Given the description of an element on the screen output the (x, y) to click on. 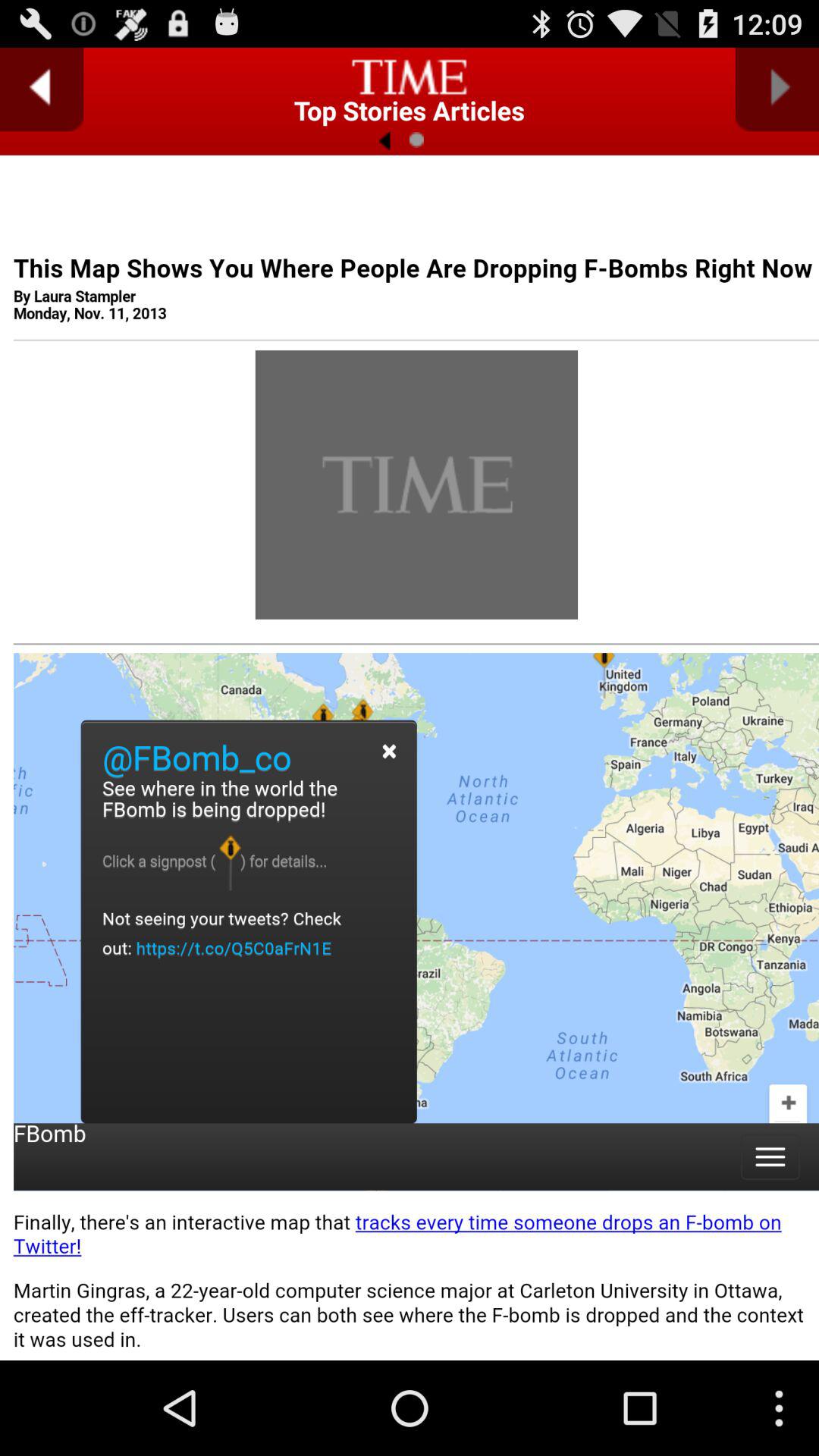
go to next (777, 89)
